Given the description of an element on the screen output the (x, y) to click on. 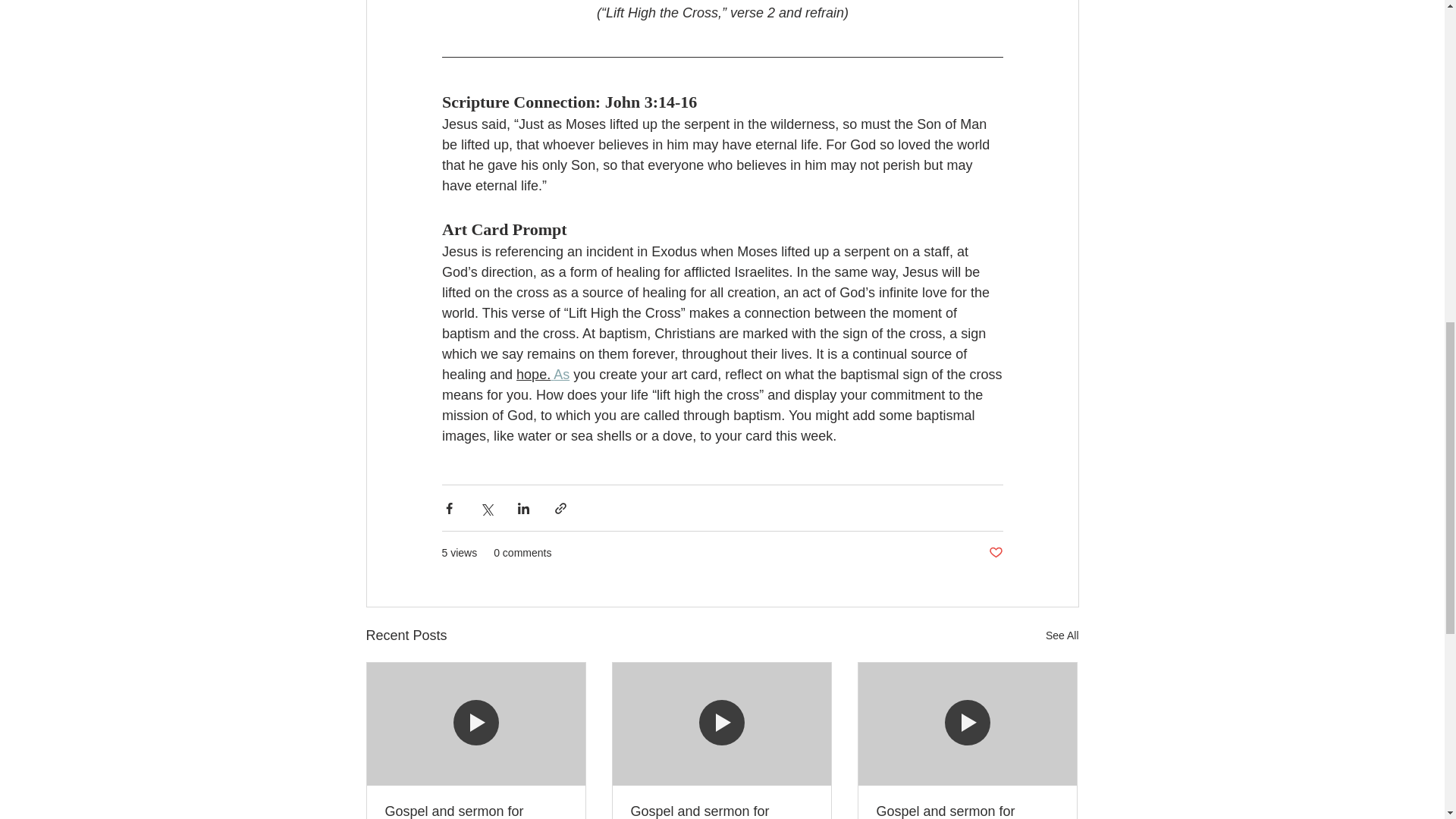
See All (1061, 635)
Gospel and sermon for August 18, 2024 (721, 811)
Gospel and sermon for August 25, 2024. (476, 811)
Gospel and sermon for August 4, 2024. (967, 811)
As (561, 374)
Post not marked as liked (995, 553)
